Given the description of an element on the screen output the (x, y) to click on. 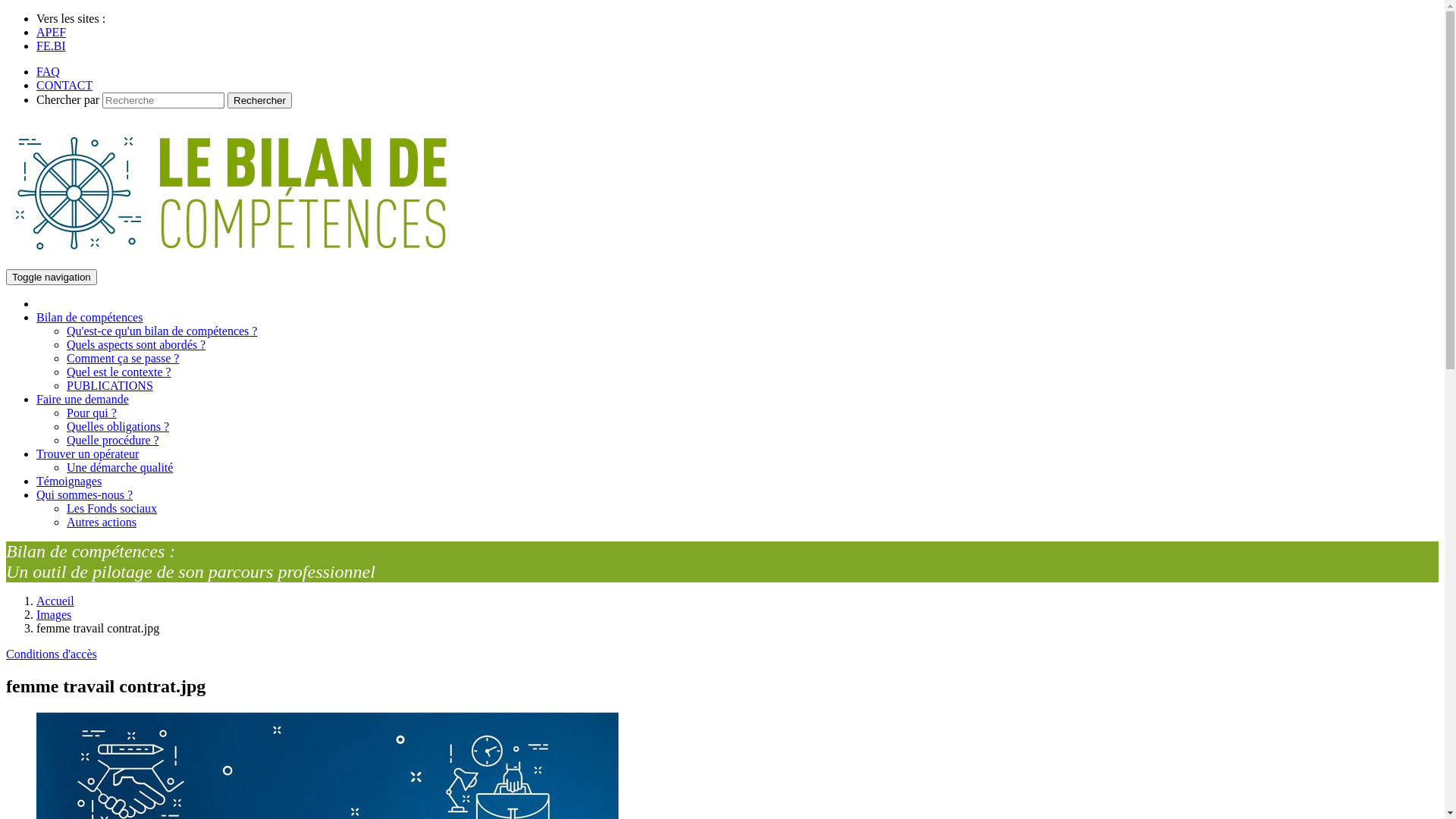
PUBLICATIONS Element type: text (109, 385)
Qui sommes-nous ? Element type: text (84, 494)
FAQ Element type: text (47, 71)
FE.BI Element type: text (50, 45)
Images Element type: text (53, 614)
Pour qui ? Element type: text (91, 412)
Faire une demande Element type: text (82, 398)
CONTACT Element type: text (64, 84)
Les Fonds sociaux Element type: text (111, 508)
Accueil Element type: text (55, 600)
Toggle navigation Element type: text (51, 277)
Autres actions Element type: text (101, 521)
APEF Element type: text (50, 31)
Quel est le contexte ? Element type: text (118, 371)
Rechercher Element type: text (259, 100)
Quelles obligations ? Element type: text (117, 426)
Recherche Element type: hover (163, 100)
